Given the description of an element on the screen output the (x, y) to click on. 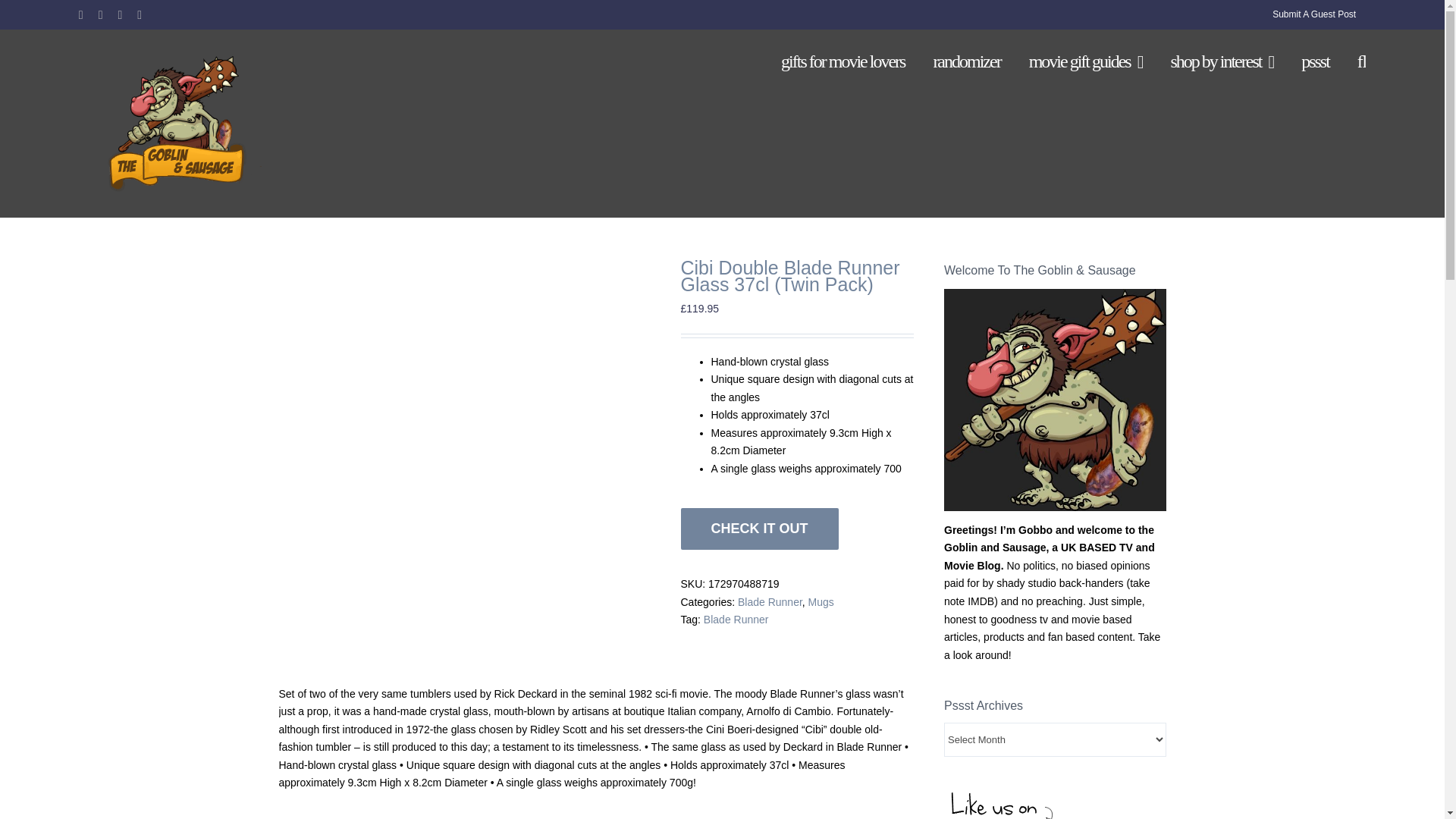
movie gift guides (1085, 61)
randomizer (966, 61)
gifts for movie lovers (842, 61)
Submit A Guest Post (1313, 14)
shop by interest (1221, 61)
